Given the description of an element on the screen output the (x, y) to click on. 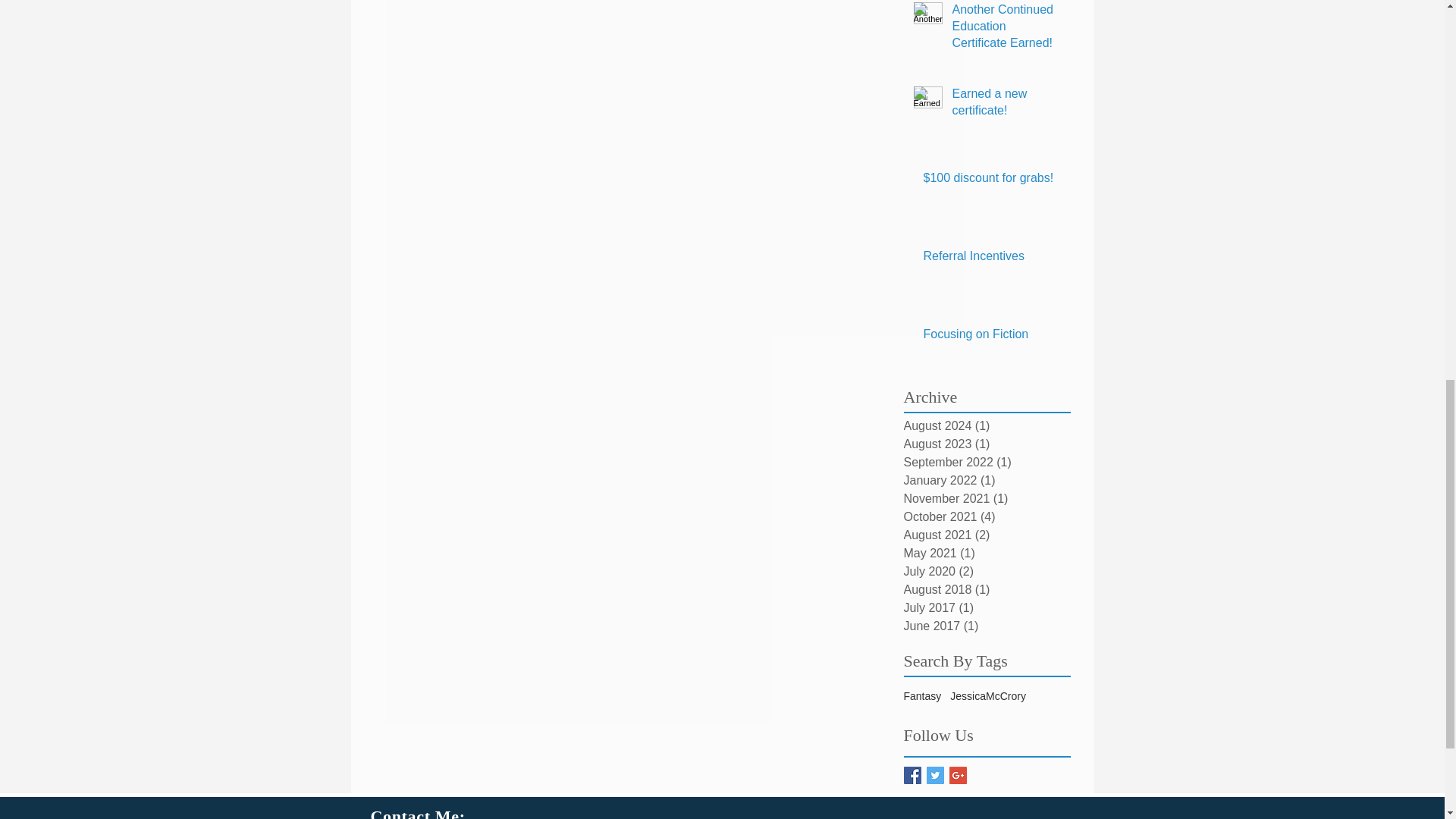
Focusing on Fiction (992, 336)
Referral Incentives (992, 259)
JessicaMcCrory (988, 695)
Another Continued Education Certificate Earned! (1006, 29)
Earned a new certificate! (1006, 105)
Fantasy (923, 695)
